Given the description of an element on the screen output the (x, y) to click on. 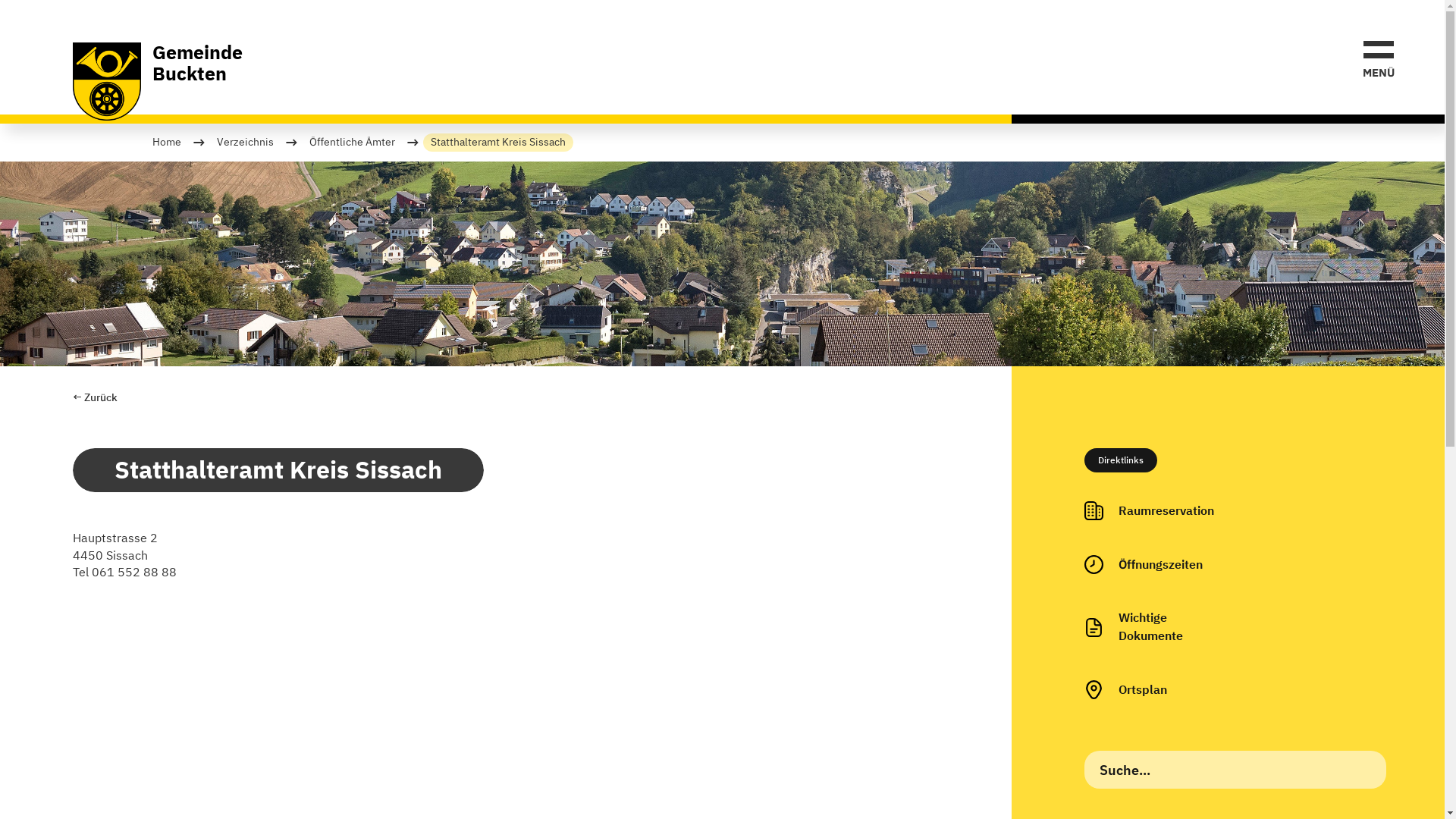
Search Element type: text (27, 14)
Gemeinde
Buckten Element type: text (157, 81)
Verzeichnis Element type: text (245, 142)
Ortsplan Element type: text (1125, 689)
Wichtige Dokumente Element type: text (1151, 626)
Statthalteramt Kreis Sissach Element type: text (498, 142)
Raumreservation Element type: text (1149, 510)
Home Element type: text (166, 142)
